Given the description of an element on the screen output the (x, y) to click on. 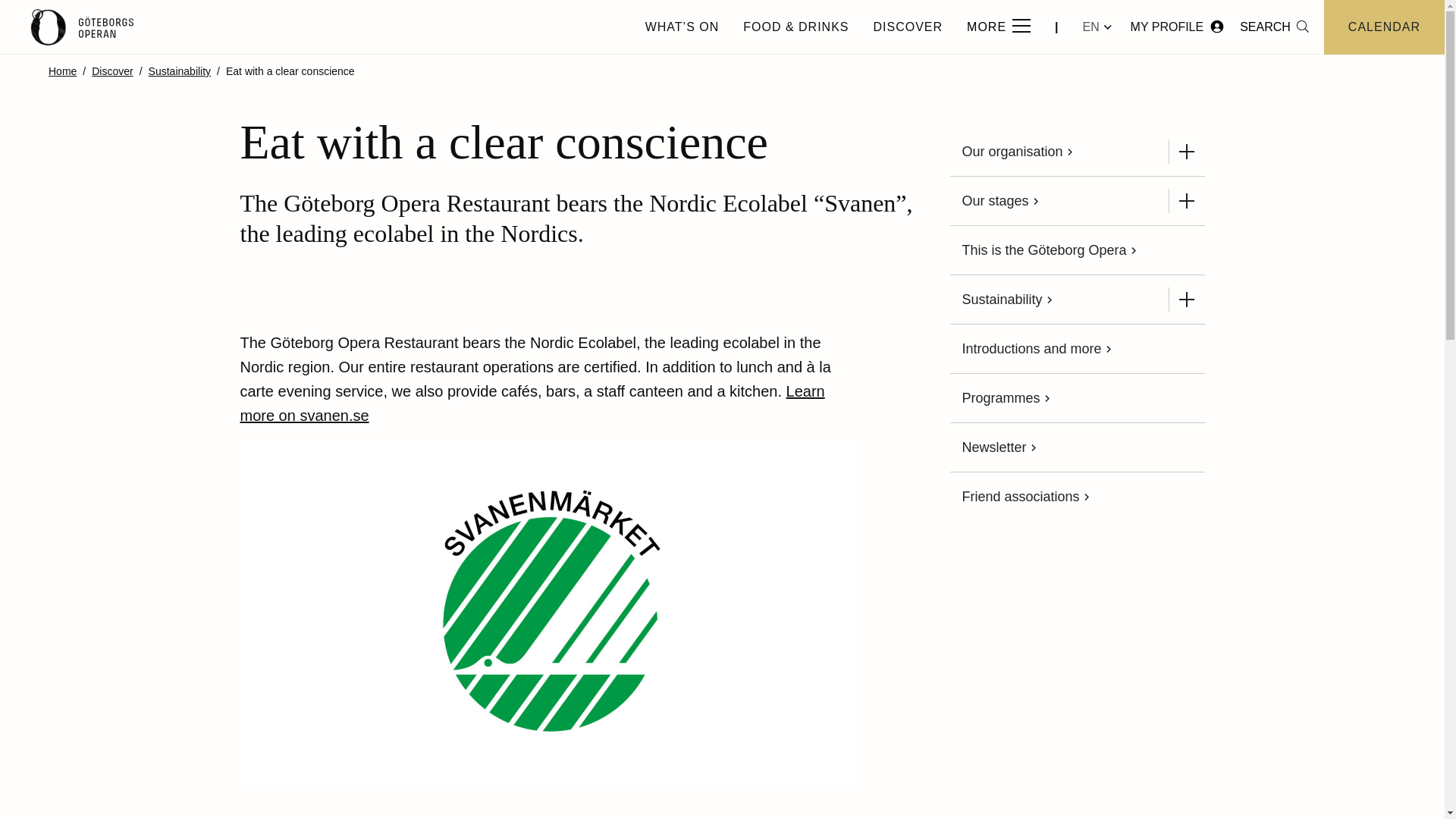
SEARCH (1274, 27)
MY PROFILE (1178, 26)
MORE (998, 27)
DISCOVER (907, 27)
Svanen (532, 403)
